Given the description of an element on the screen output the (x, y) to click on. 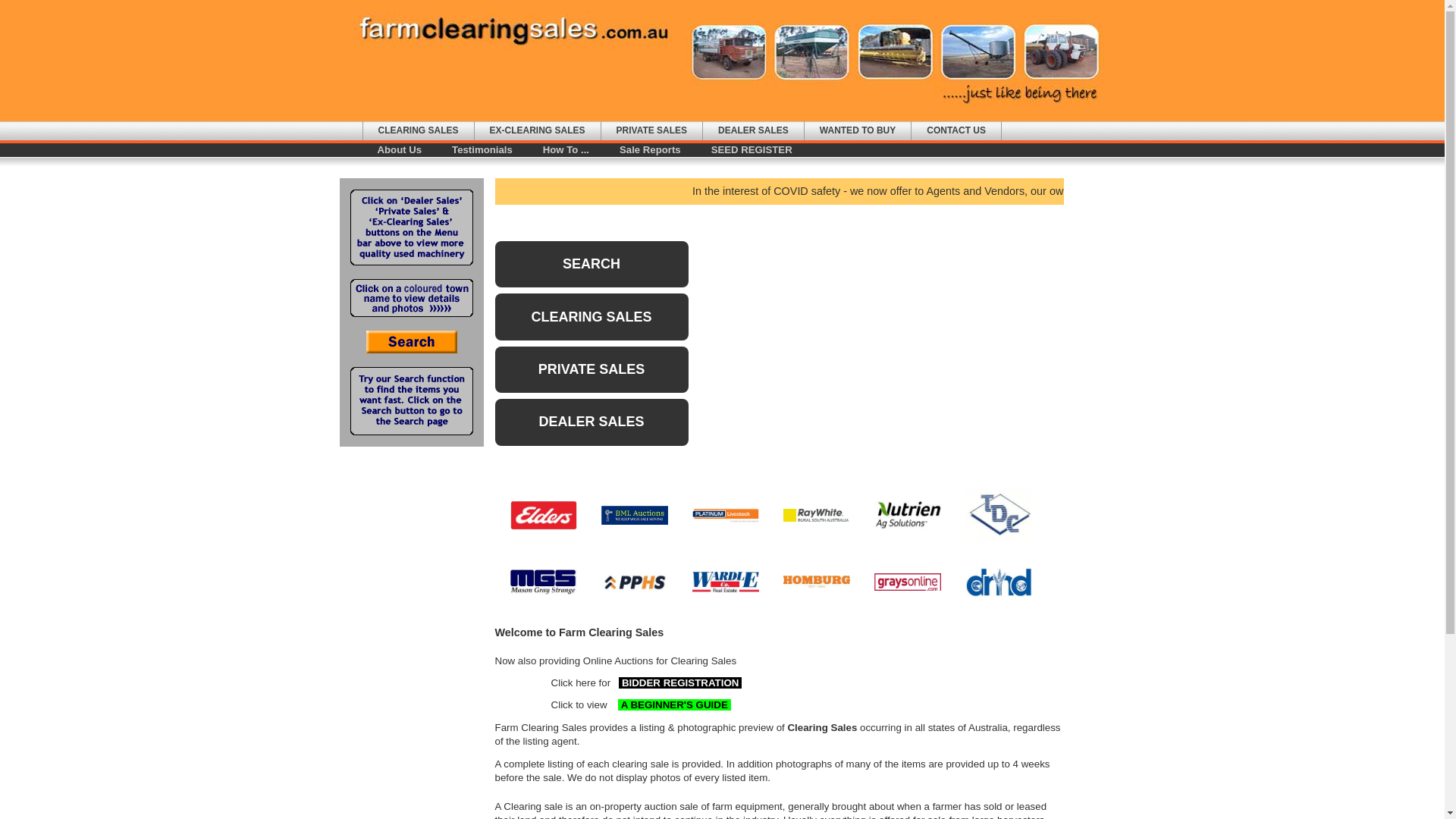
BIDDER REGISTRATION  Element type: text (679, 682)
search farm items Element type: hover (410, 350)
Testimonials Element type: text (481, 149)
EX-CLEARING SALES Element type: text (537, 130)
PRIVATE SALES Element type: text (590, 369)
CLEARING SALES Element type: text (590, 316)
PRIVATE SALES Element type: text (651, 130)
How To ... Element type: text (565, 149)
CLEARING SALES Element type: text (417, 130)
  Element type: text (616, 682)
DEALER SALES Element type: text (752, 130)
WANTED TO BUY Element type: text (857, 130)
Sale Reports Element type: text (650, 149)
SEARCH Element type: text (590, 264)
CONTACT US Element type: text (956, 130)
SEED REGISTER Element type: text (751, 149)
 A BEGINNER'S GUIDE  Element type: text (674, 704)
About Us Element type: text (399, 149)
DEALER SALES Element type: text (590, 421)
